Given the description of an element on the screen output the (x, y) to click on. 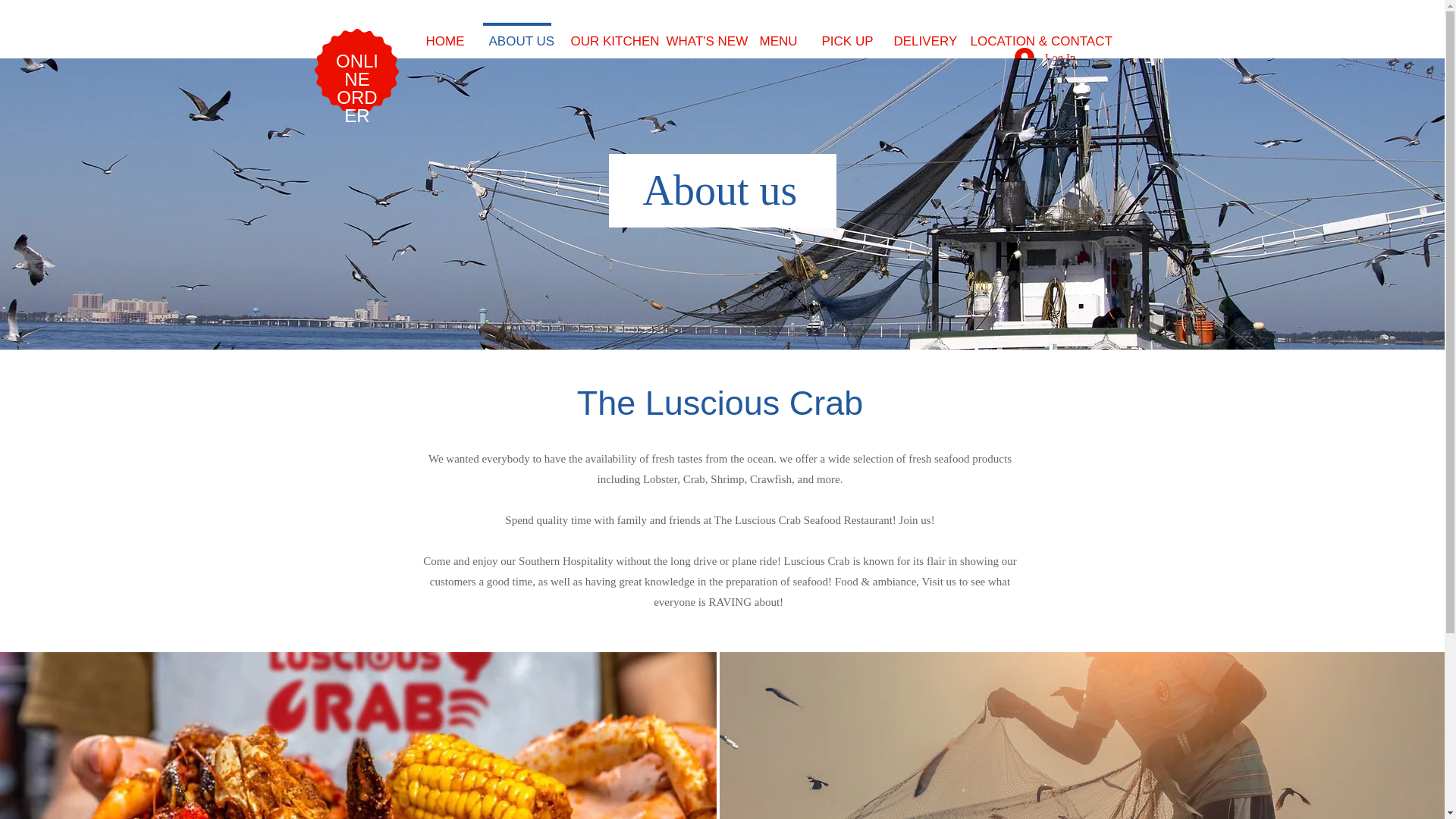
ONLINE ORDER (357, 88)
OUR KITCHEN (605, 34)
DELIVERY (919, 34)
ABOUT US (516, 34)
PICK UP (844, 34)
Log In (1045, 57)
HOME (444, 34)
WHAT'S NEW (699, 34)
MENU (776, 34)
